Given the description of an element on the screen output the (x, y) to click on. 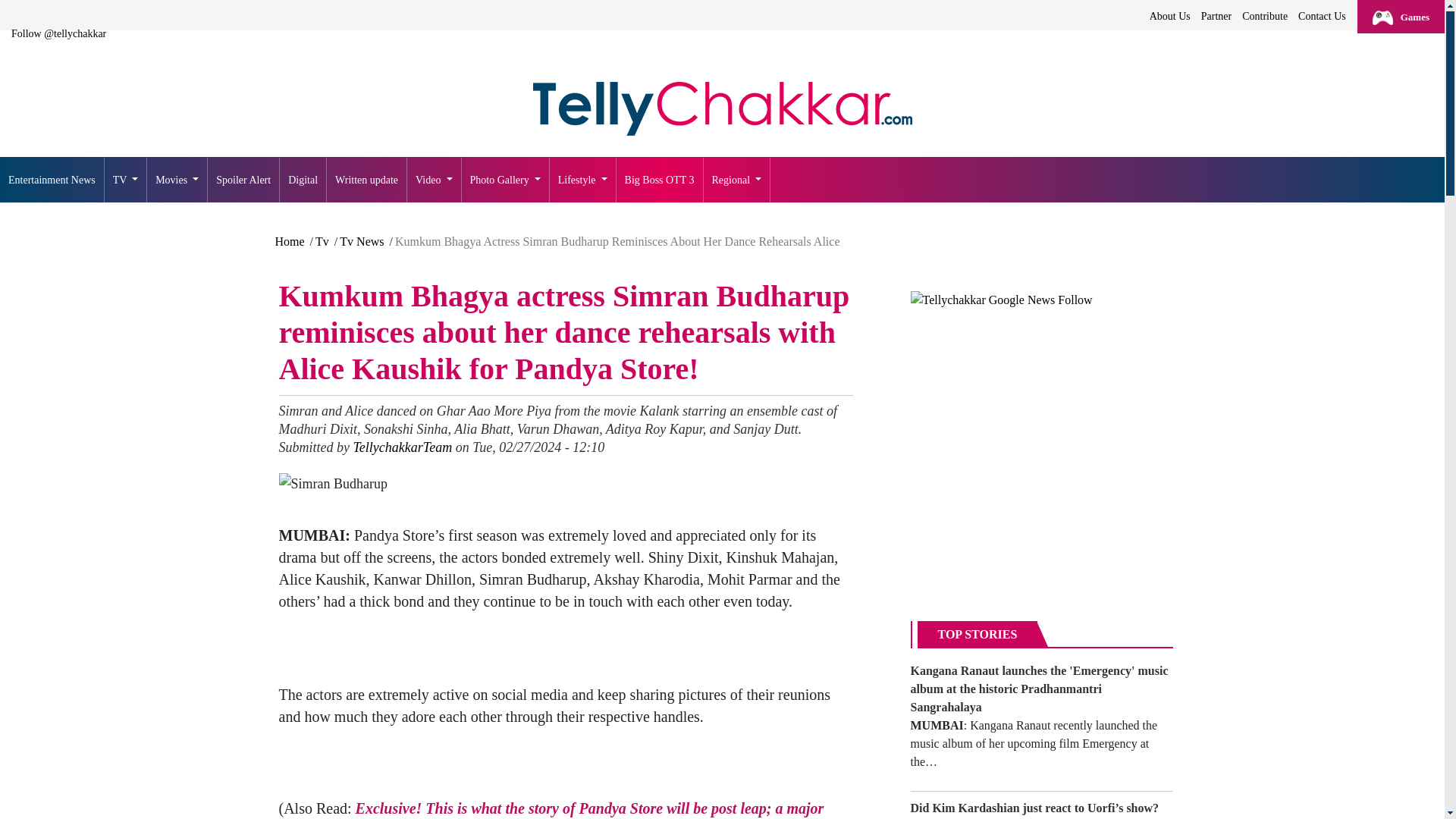
Entertainment News (52, 180)
Tellychakkar Google News Follow (1001, 300)
View user profile. (401, 447)
Games (1400, 17)
Simran Budharup (333, 483)
Contribute (1265, 16)
Contact Us (1321, 16)
Video (434, 180)
About Us (1169, 16)
Home (721, 108)
